Given the description of an element on the screen output the (x, y) to click on. 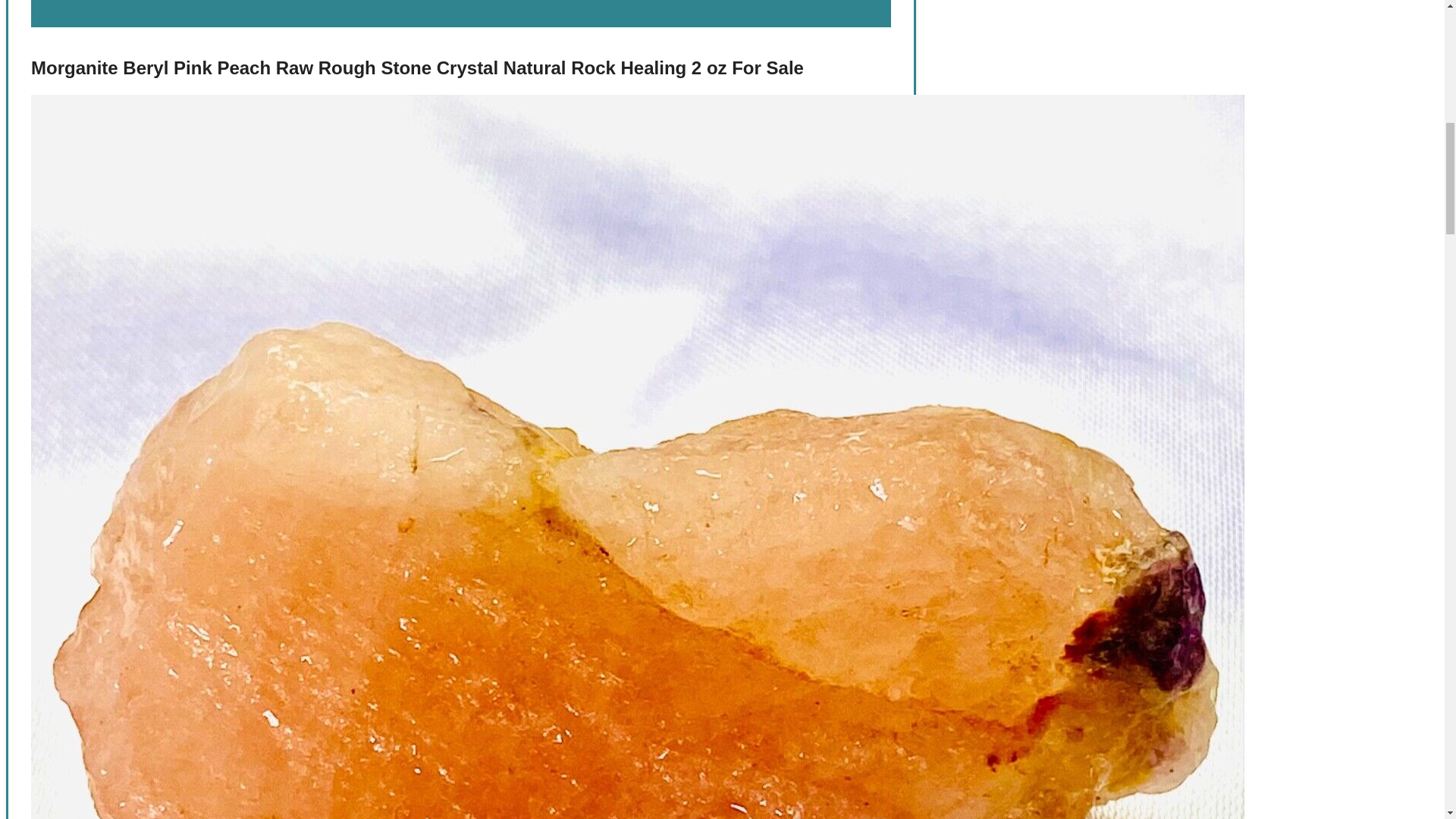
Return to Content (78, 17)
